Given the description of an element on the screen output the (x, y) to click on. 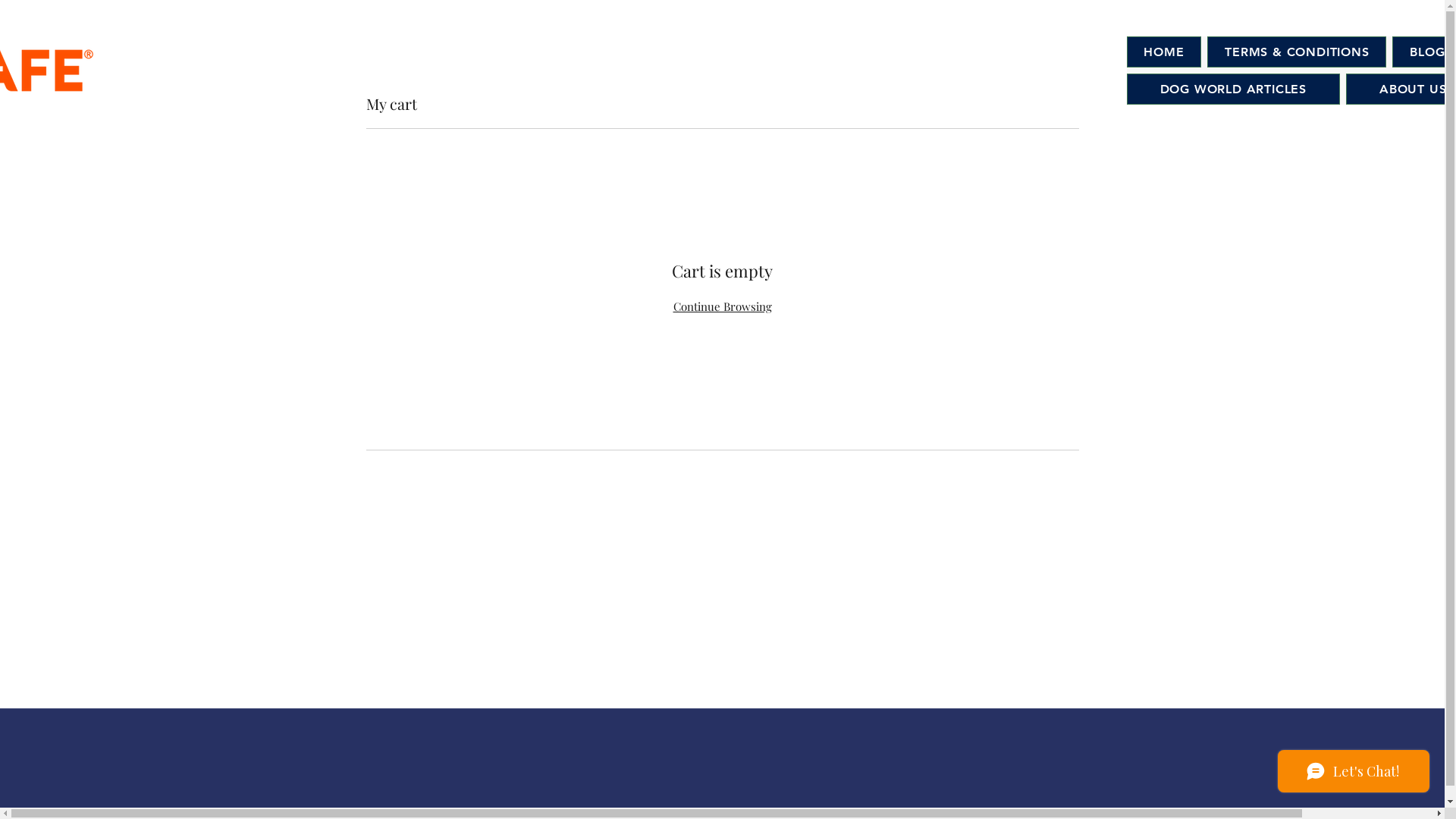
HOME Element type: text (1163, 51)
TERMS & CONDITIONS Element type: text (1296, 51)
Wix Chat Element type: hover (1357, 774)
Continue Browsing Element type: text (722, 305)
DOG WORLD ARTICLES Element type: text (1232, 88)
